Given the description of an element on the screen output the (x, y) to click on. 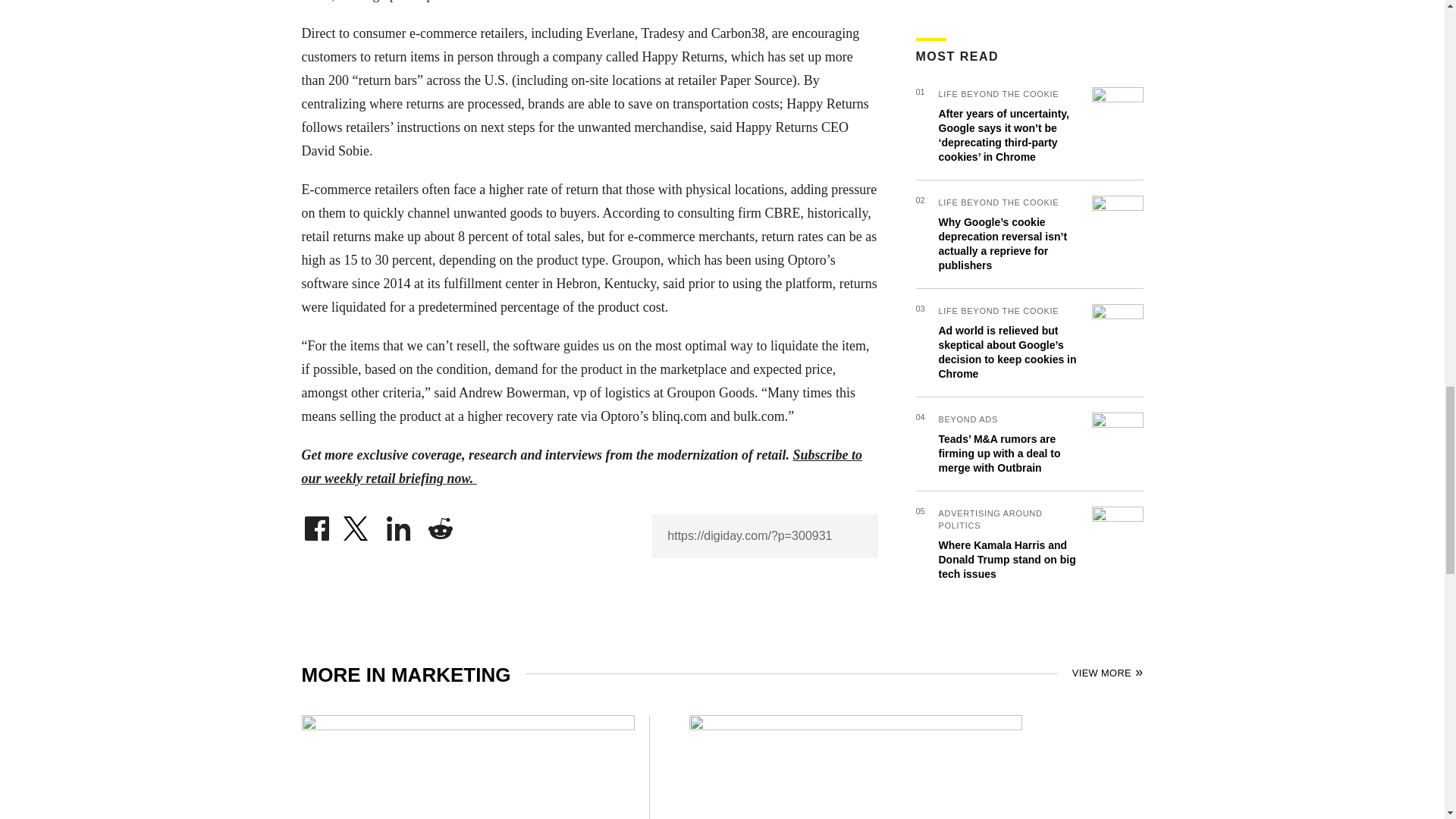
Share on Reddit (440, 524)
Share on Twitter (357, 524)
Share on LinkedIn (398, 524)
Share on Facebook (316, 524)
